Given the description of an element on the screen output the (x, y) to click on. 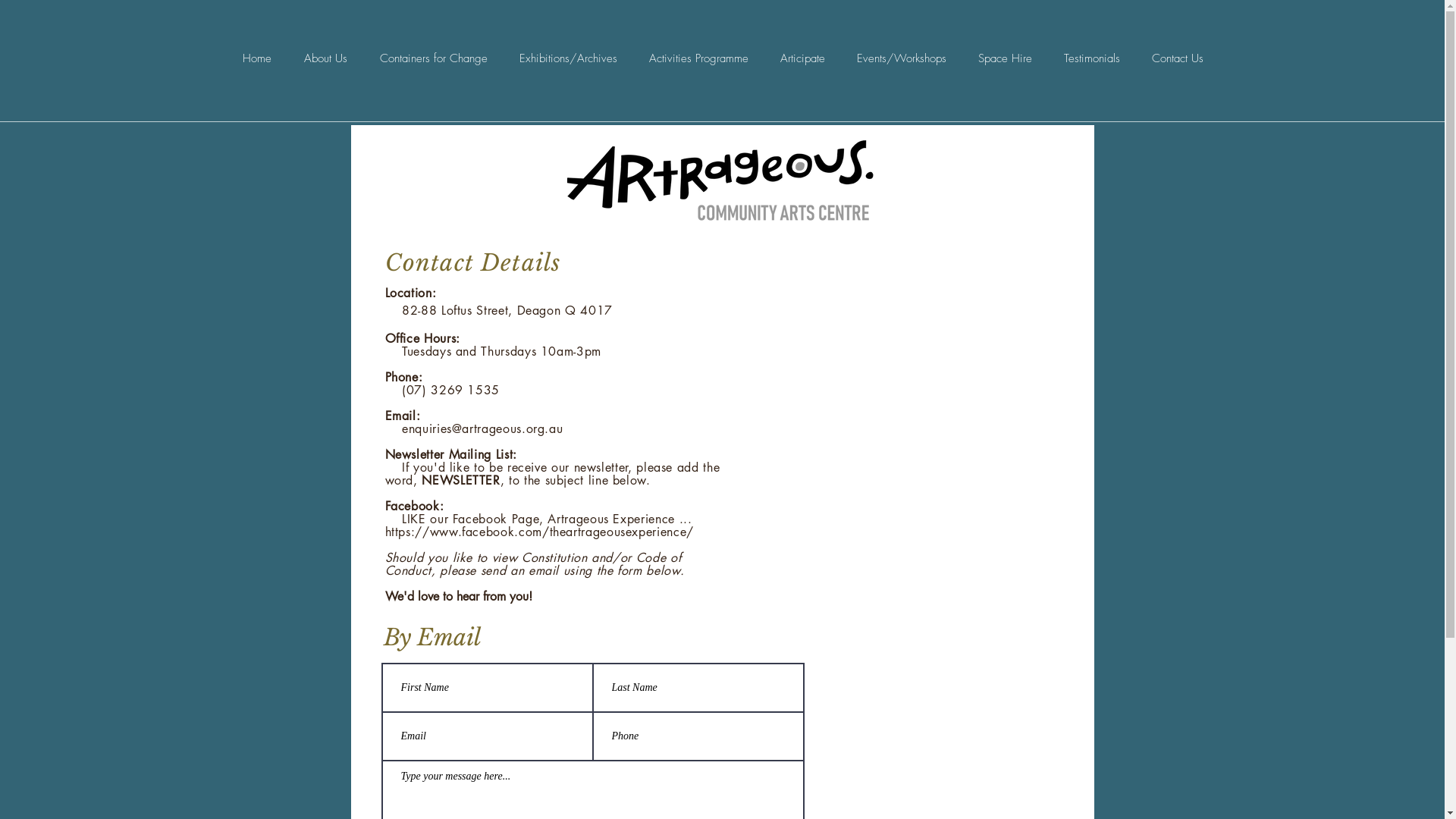
https://www.facebook.com/theartrageousexperience/ Element type: text (539, 531)
Home Element type: text (256, 58)
Testimonials Element type: text (1091, 58)
Articipate Element type: text (802, 58)
About Us Element type: text (326, 58)
Events/Workshops Element type: text (900, 58)
Containers for Change Element type: text (433, 58)
Google Maps Element type: hover (899, 384)
enquiries@artrageous.org.au Element type: text (481, 428)
Activities Programme Element type: text (697, 58)
Space Hire Element type: text (1004, 58)
Exhibitions/Archives Element type: text (568, 58)
Contact Us Element type: text (1177, 58)
